Given the description of an element on the screen output the (x, y) to click on. 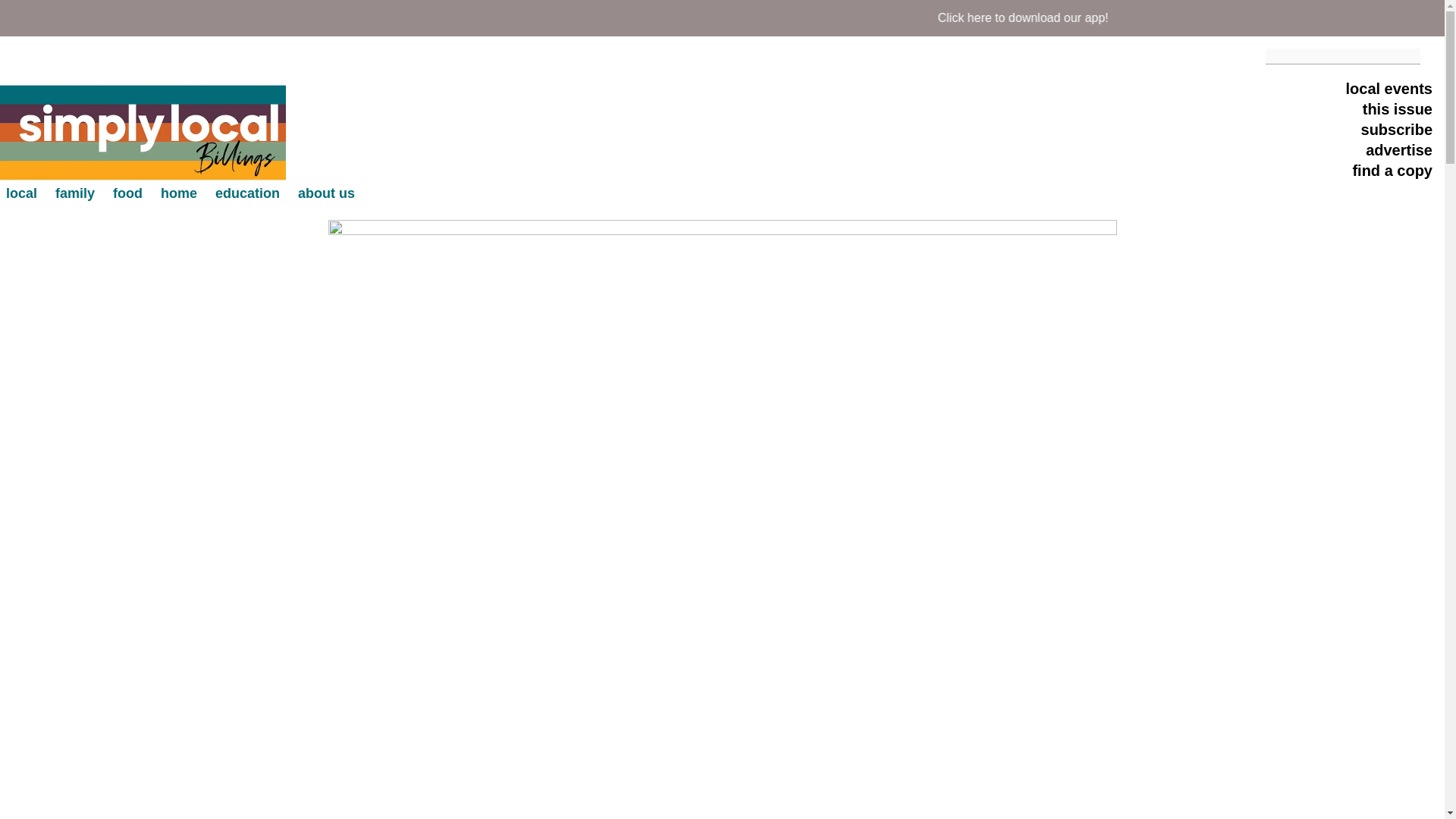
find a copy (1392, 172)
about us (326, 192)
food (127, 192)
local (21, 192)
this issue (1397, 110)
advertise (1398, 151)
subscribe (1396, 131)
home (178, 192)
local events (1388, 90)
family (74, 192)
